Given the description of an element on the screen output the (x, y) to click on. 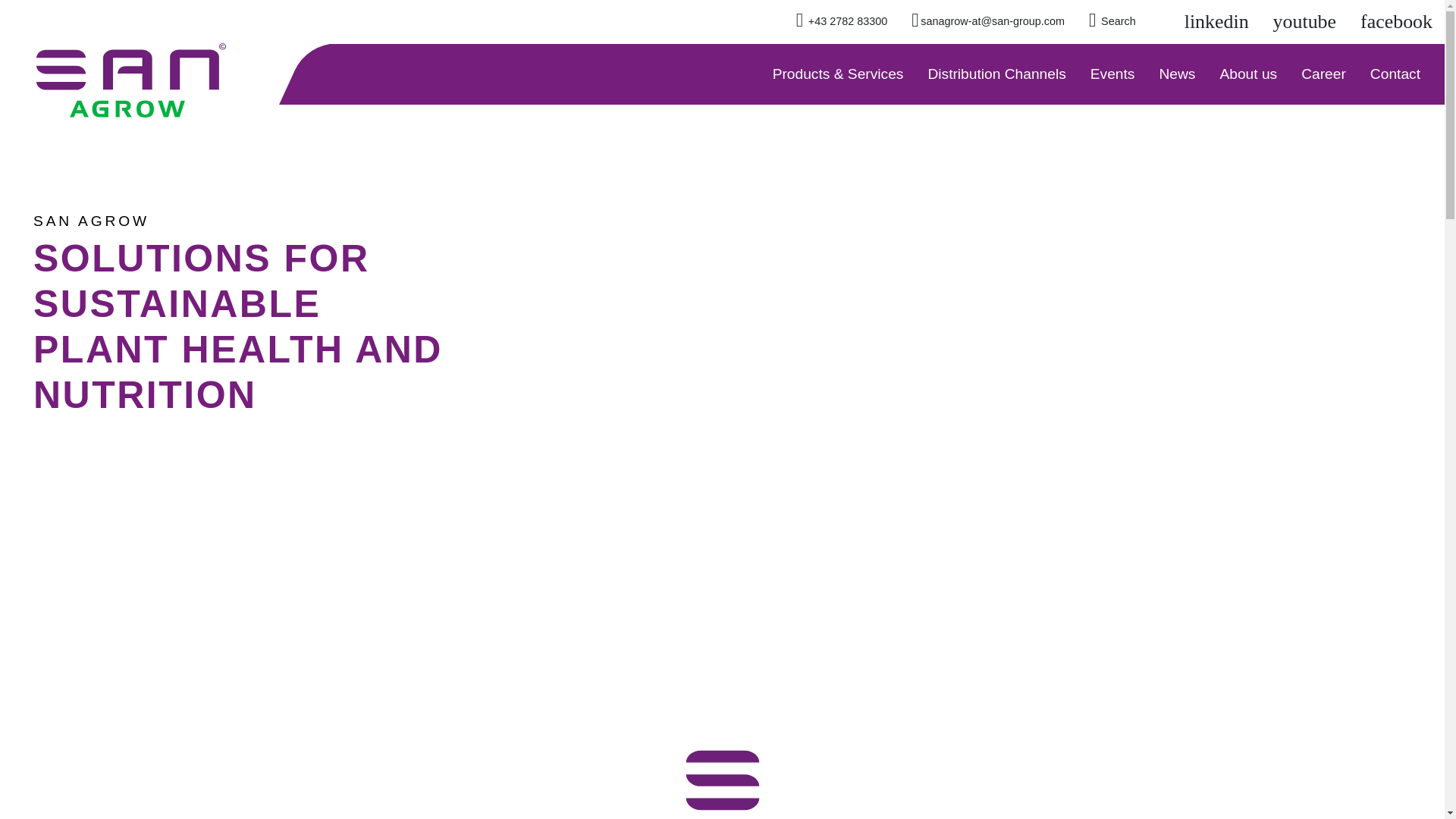
Search (1112, 22)
About us (1247, 74)
Contact (1395, 74)
Distribution Channels (996, 74)
youtube (1304, 22)
About us (1247, 74)
News (1177, 74)
Career (1323, 74)
Events (1112, 74)
Events (1112, 74)
